Given the description of an element on the screen output the (x, y) to click on. 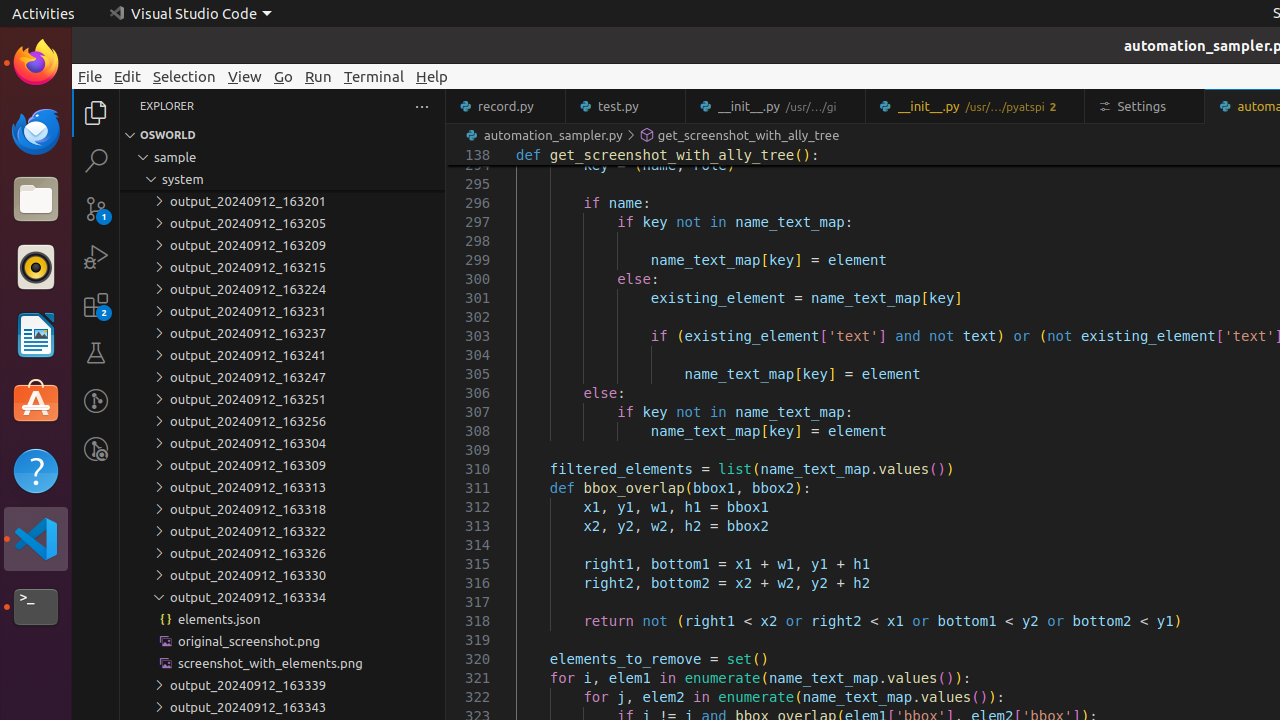
File Element type: push-button (90, 76)
sample Element type: tree-item (282, 157)
Source Control (Ctrl+Shift+G G) - 1 pending changes Source Control (Ctrl+Shift+G G) - 1 pending changes Element type: page-tab (96, 208)
output_20240912_163256 Element type: tree-item (282, 421)
